Given the description of an element on the screen output the (x, y) to click on. 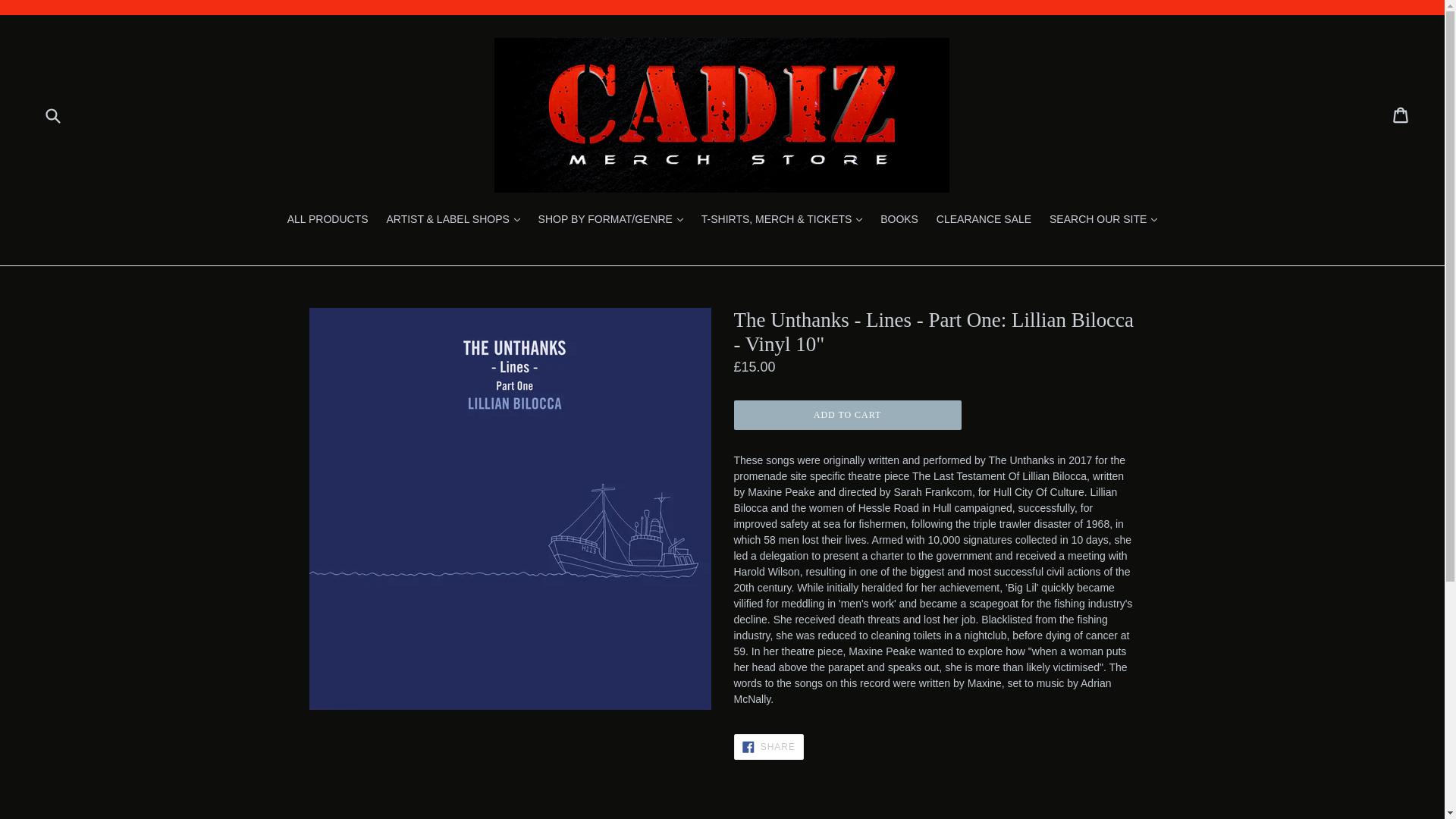
Share on Facebook (768, 746)
